Given the description of an element on the screen output the (x, y) to click on. 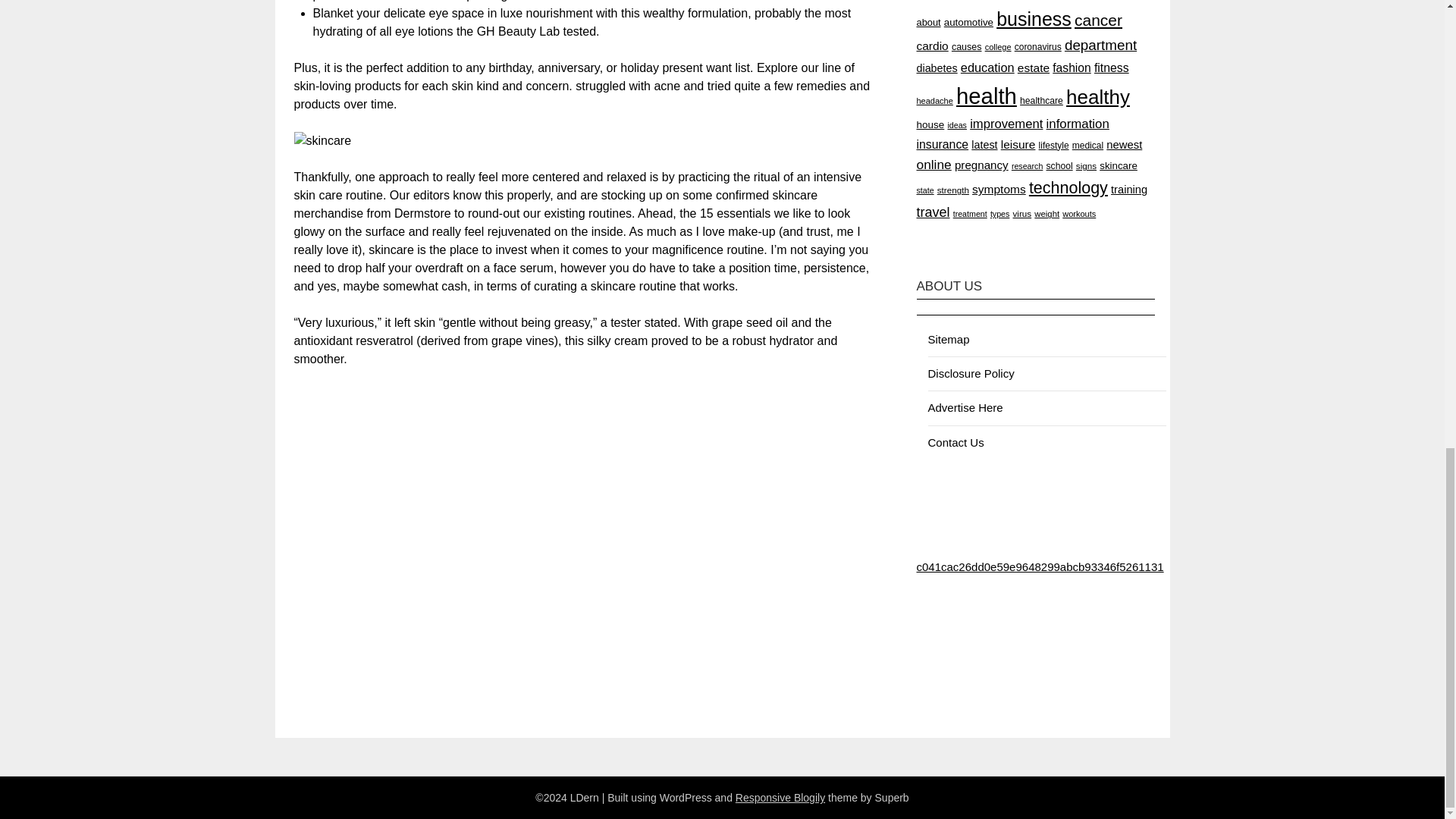
causes (966, 46)
automotive (967, 21)
health (986, 95)
fashion (1071, 67)
diabetes (935, 68)
college (998, 46)
estate (1033, 67)
department (1100, 44)
house (929, 124)
healthy (1097, 96)
